Given the description of an element on the screen output the (x, y) to click on. 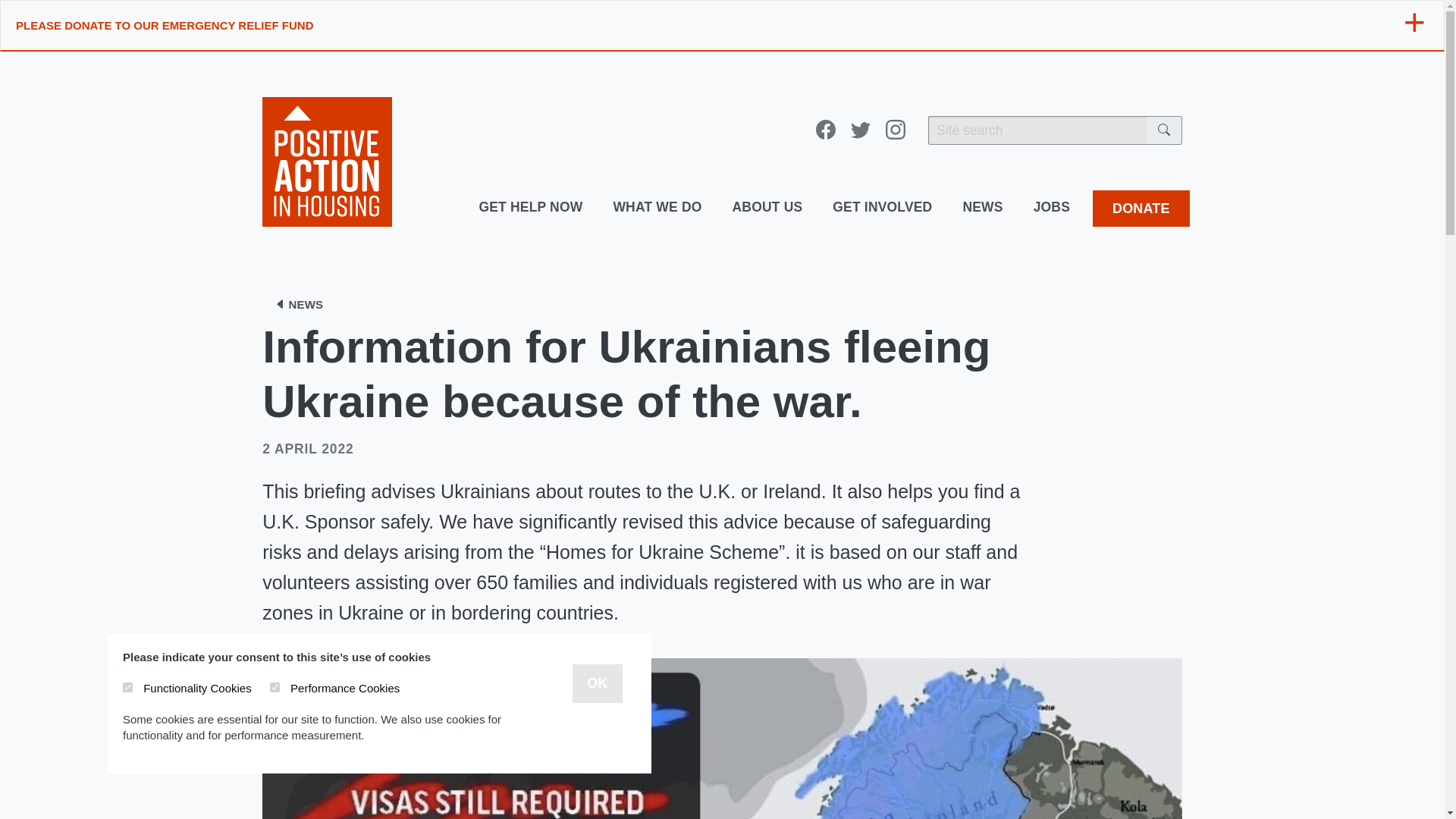
NEWS (982, 207)
DONATE (1141, 208)
GET HELP NOW (529, 207)
OK (596, 683)
y (274, 687)
JOBS (1050, 207)
SEARCH (1164, 130)
NEWS (298, 304)
y (127, 687)
Facebook (825, 130)
GET INVOLVED (881, 207)
Instagram (895, 130)
ABOUT US (767, 207)
WHAT WE DO (656, 207)
Twitter (860, 130)
